Given the description of an element on the screen output the (x, y) to click on. 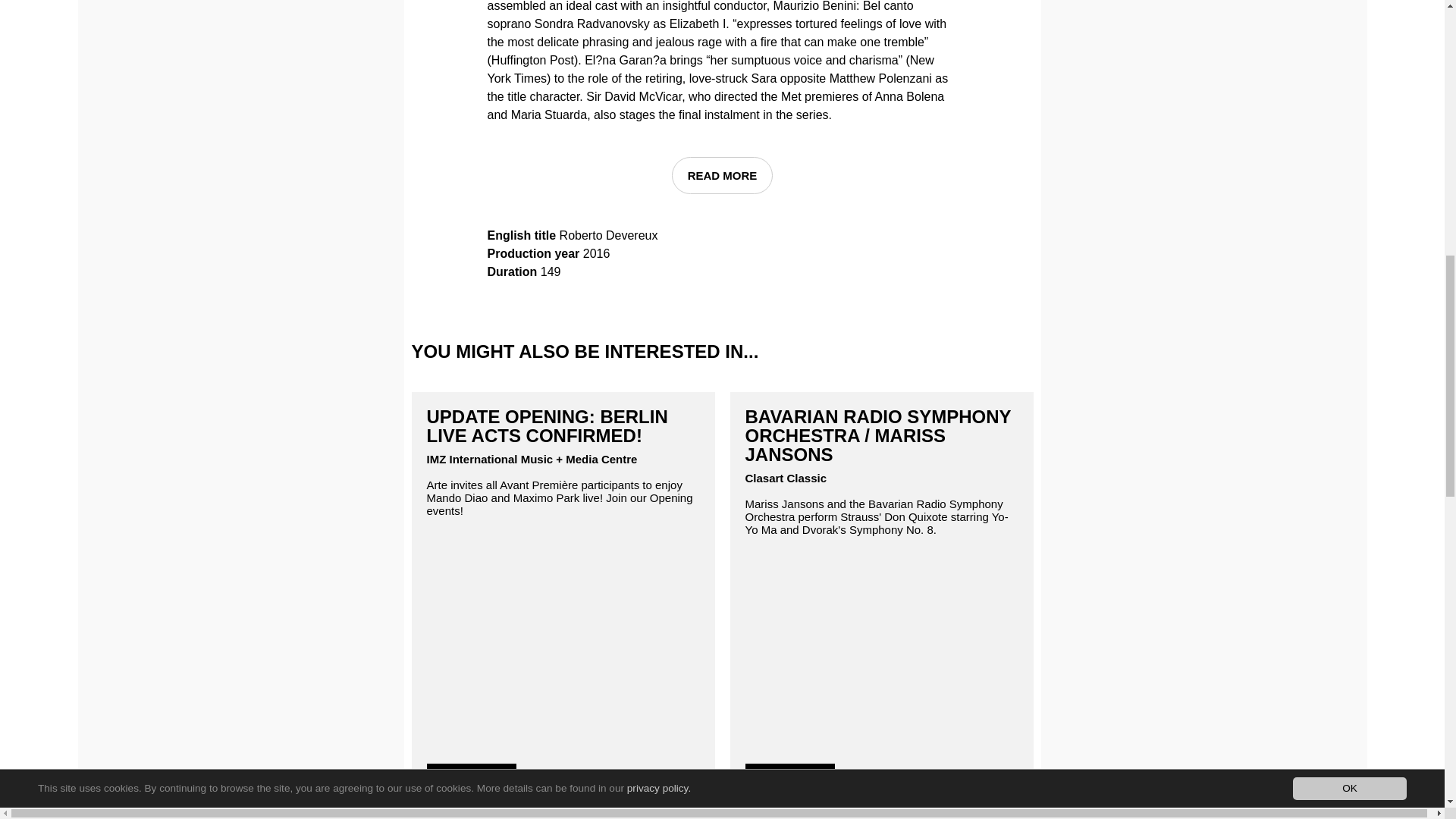
READ MORE (789, 774)
READ MORE (722, 175)
READ MORE (471, 774)
